Given the description of an element on the screen output the (x, y) to click on. 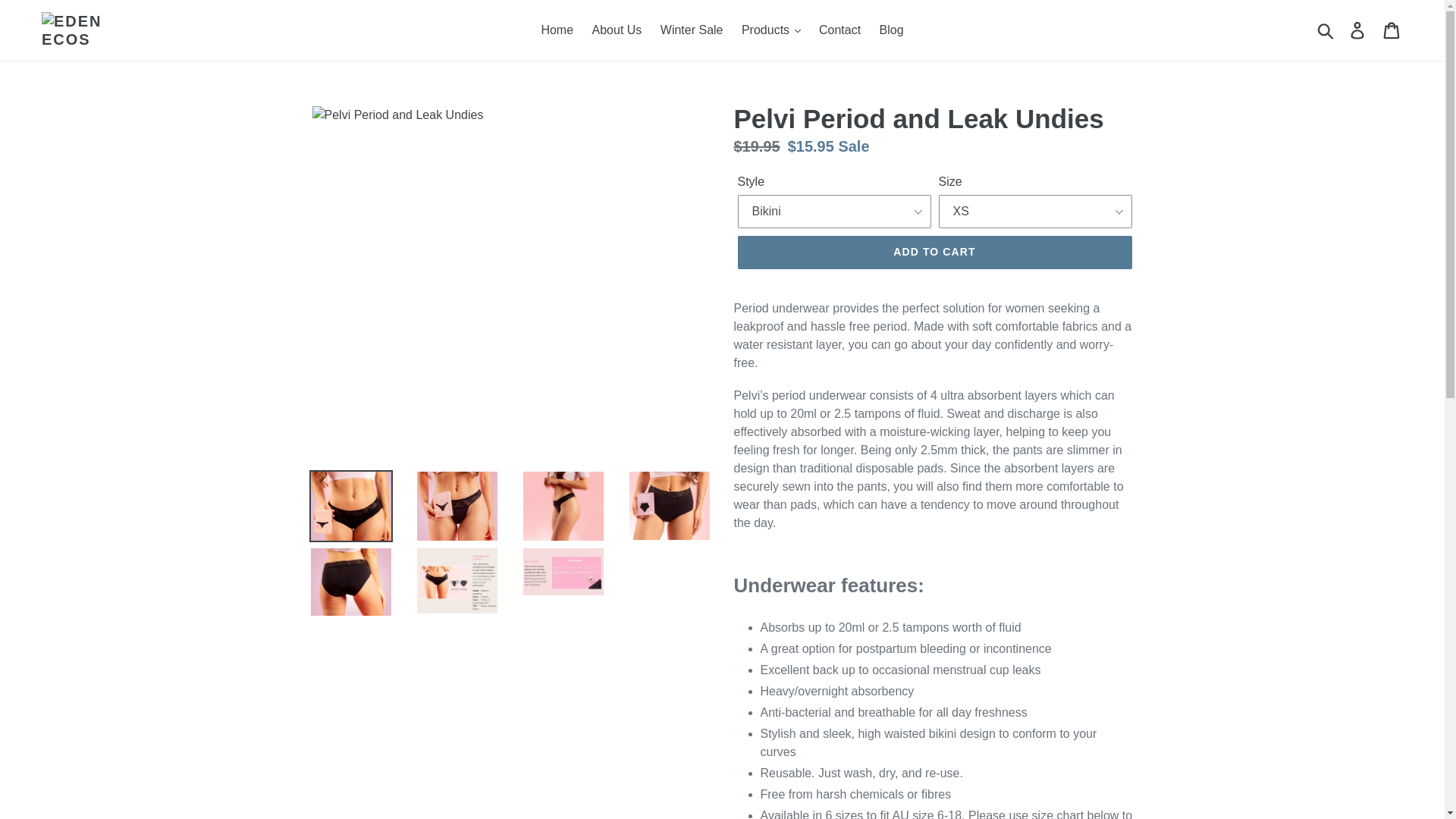
Cart (1392, 29)
Blog (891, 29)
Contact (838, 29)
Log in (1357, 29)
About Us (617, 29)
Submit (1326, 29)
Winter Sale (691, 29)
Home (556, 29)
